Given the description of an element on the screen output the (x, y) to click on. 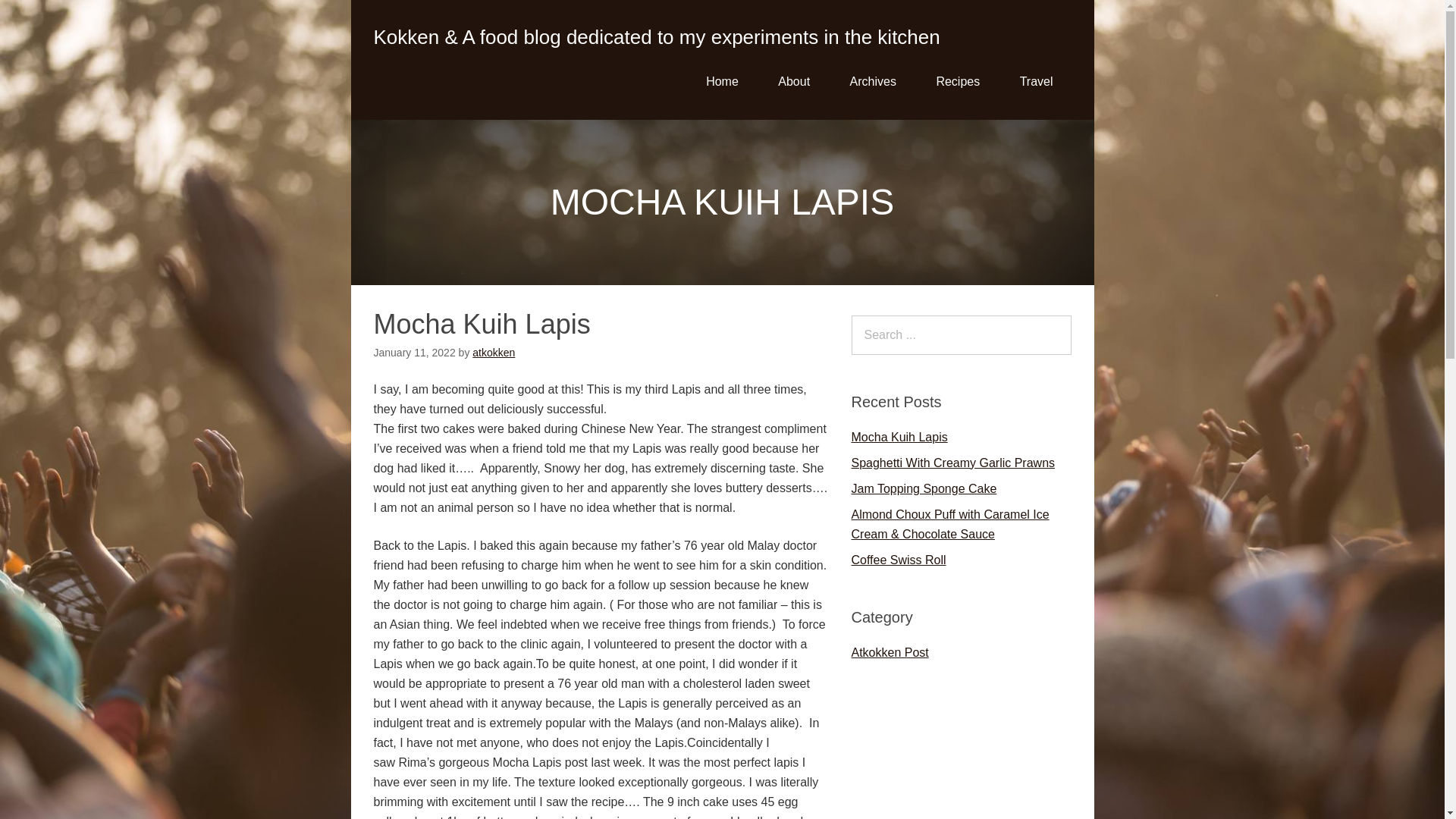
Travel (1036, 81)
Coffee Swiss Roll (897, 559)
Search for: (960, 334)
Posts by atkokken (493, 352)
Tuesday, January 11, 2022, 4:20 pm (413, 352)
Atkokken Post (889, 652)
Jam Topping Sponge Cake (922, 488)
atkokken (493, 352)
Recipes (957, 81)
Mocha Kuih Lapis (898, 436)
Home (722, 81)
Spaghetti With Creamy Garlic Prawns (952, 462)
Archives (872, 81)
About (794, 81)
